Given the description of an element on the screen output the (x, y) to click on. 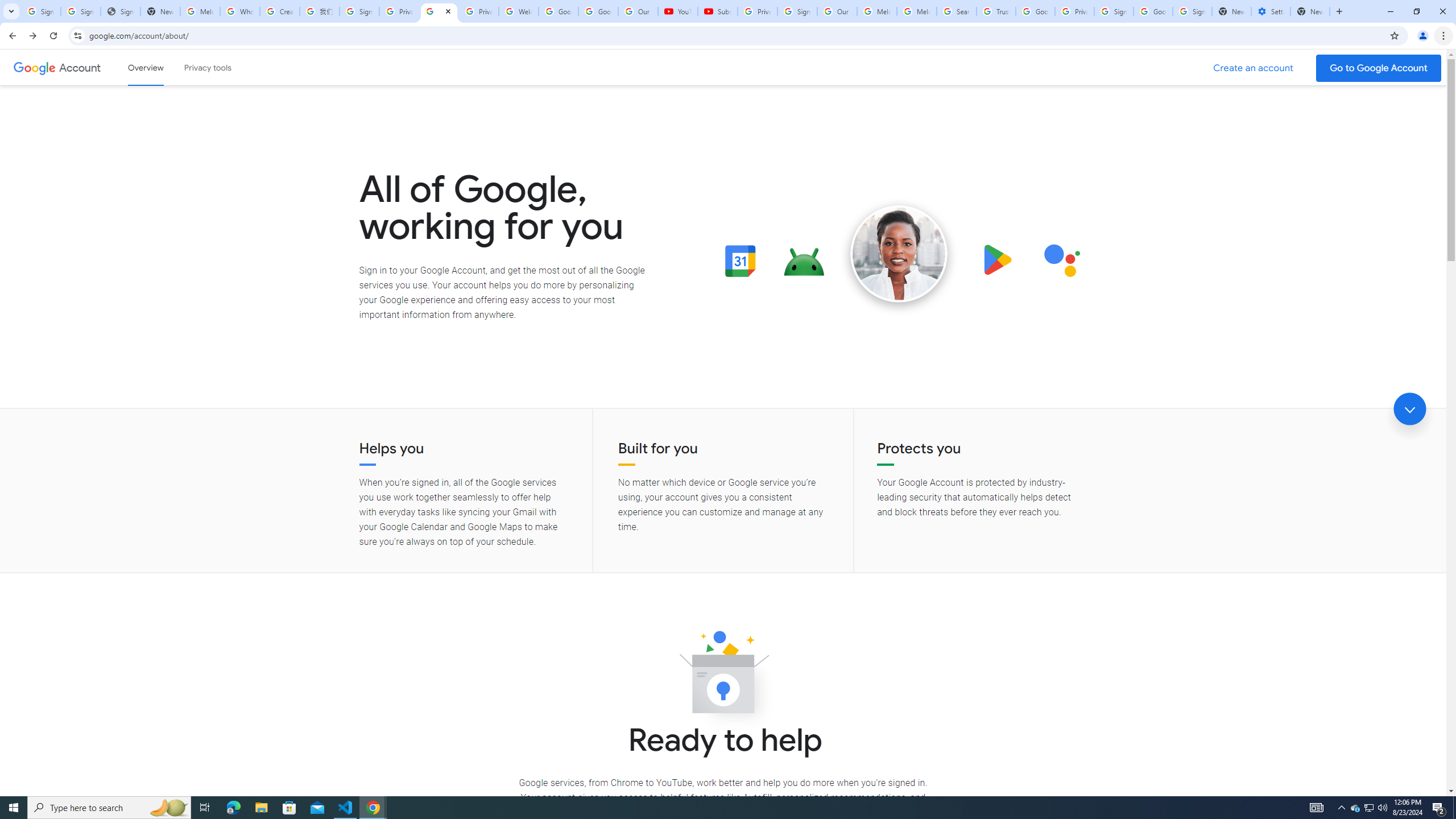
Google Account (598, 11)
Who is my administrator? - Google Account Help (239, 11)
Jump link (1409, 408)
Sign in - Google Accounts (80, 11)
Trusted Information and Content - Google Safety Center (995, 11)
Go to your Google Account (1378, 67)
Google Ads - Sign in (1034, 11)
Create your Google Account (279, 11)
